Given the description of an element on the screen output the (x, y) to click on. 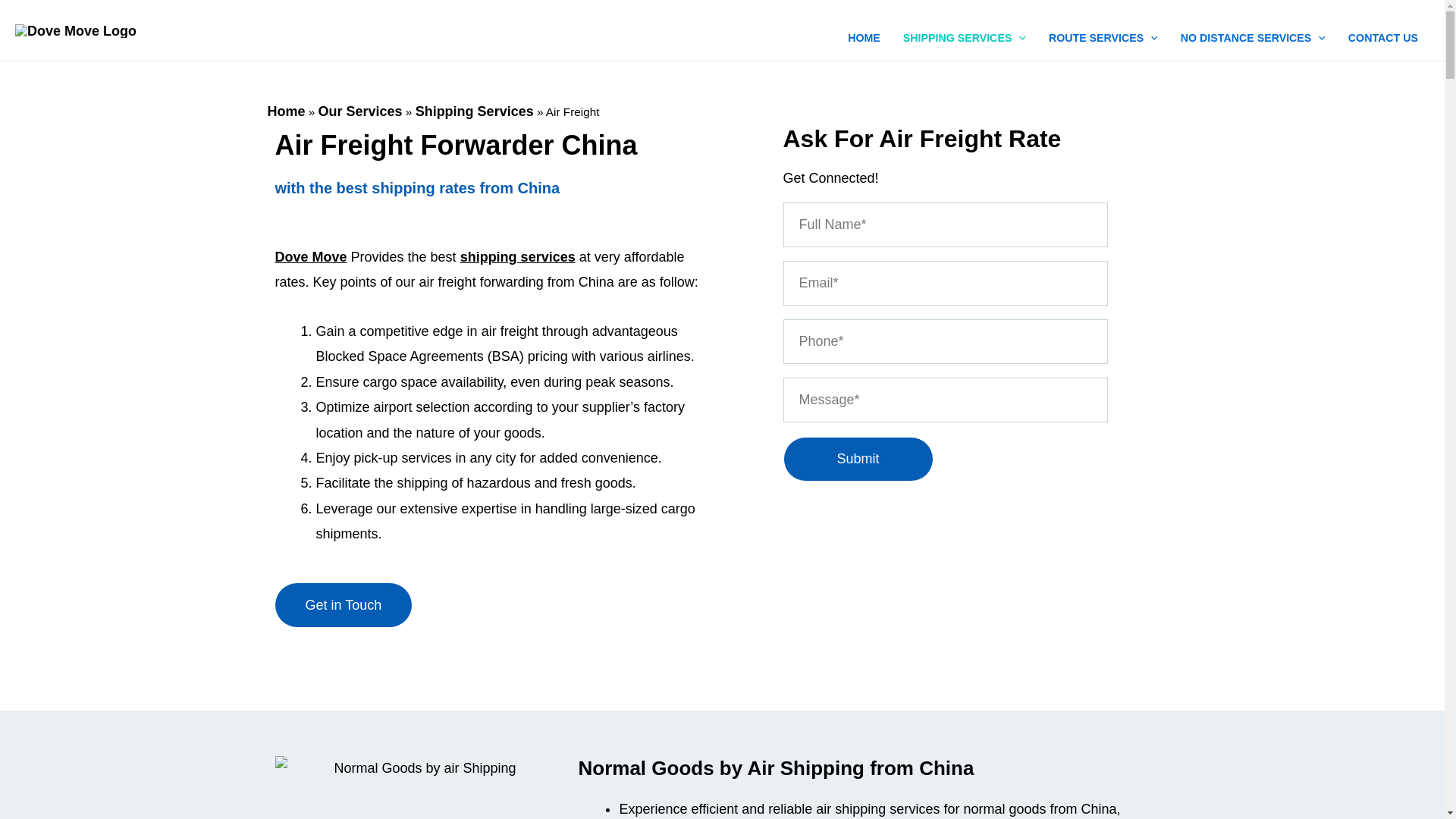
SHIPPING SERVICES (963, 30)
HOME (863, 30)
ROUTE SERVICES (1102, 30)
